Given the description of an element on the screen output the (x, y) to click on. 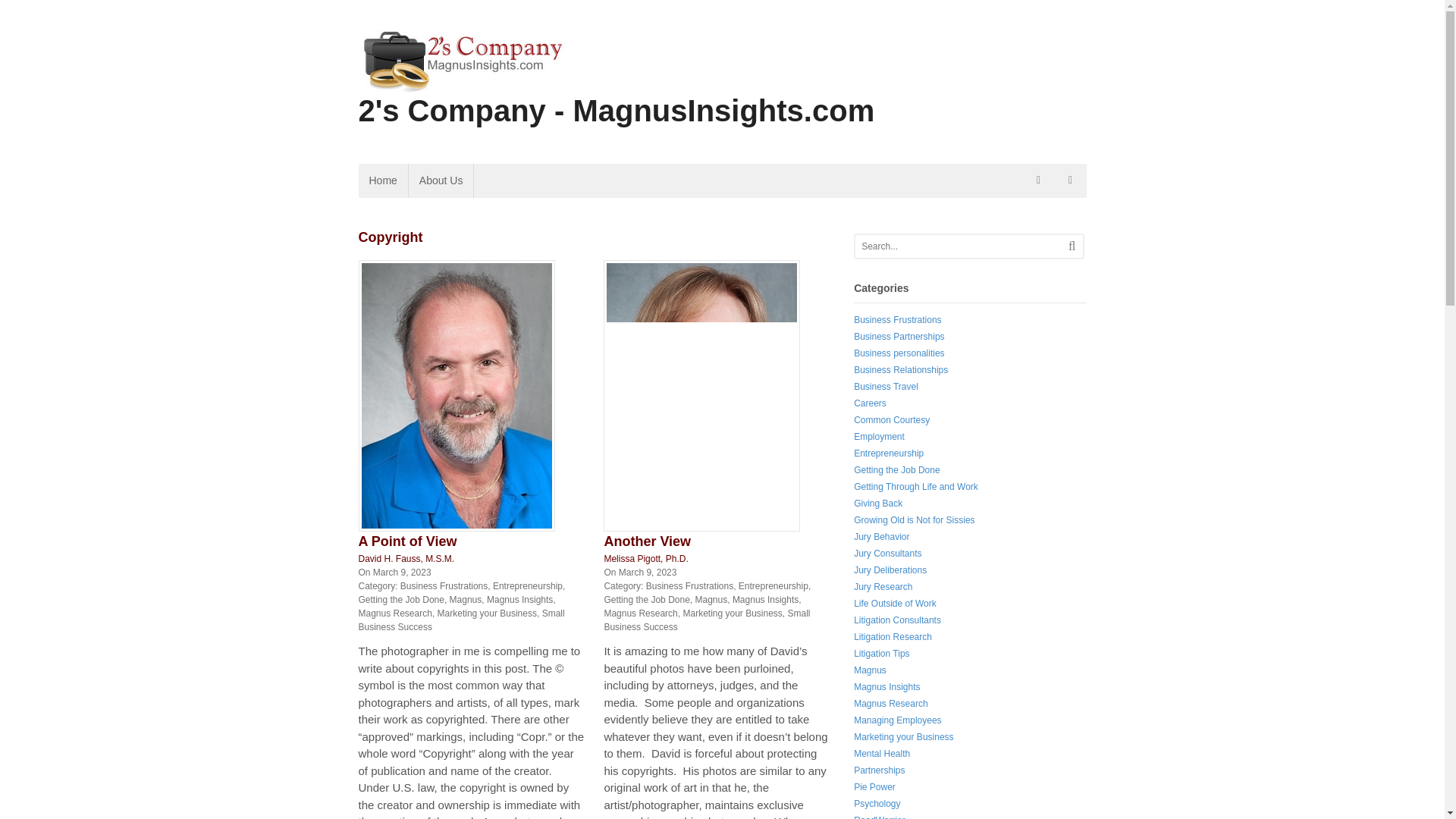
Employment (878, 436)
2's Company - MagnusInsights.com (616, 110)
Magnus Research (394, 613)
Getting the Job Done (646, 599)
Magnus Insights (519, 599)
View all posts in Getting the Job Done (646, 599)
Business Frustrations (443, 585)
Business Relationships (900, 369)
Getting Through Life and Work (915, 486)
Careers (869, 403)
